Given the description of an element on the screen output the (x, y) to click on. 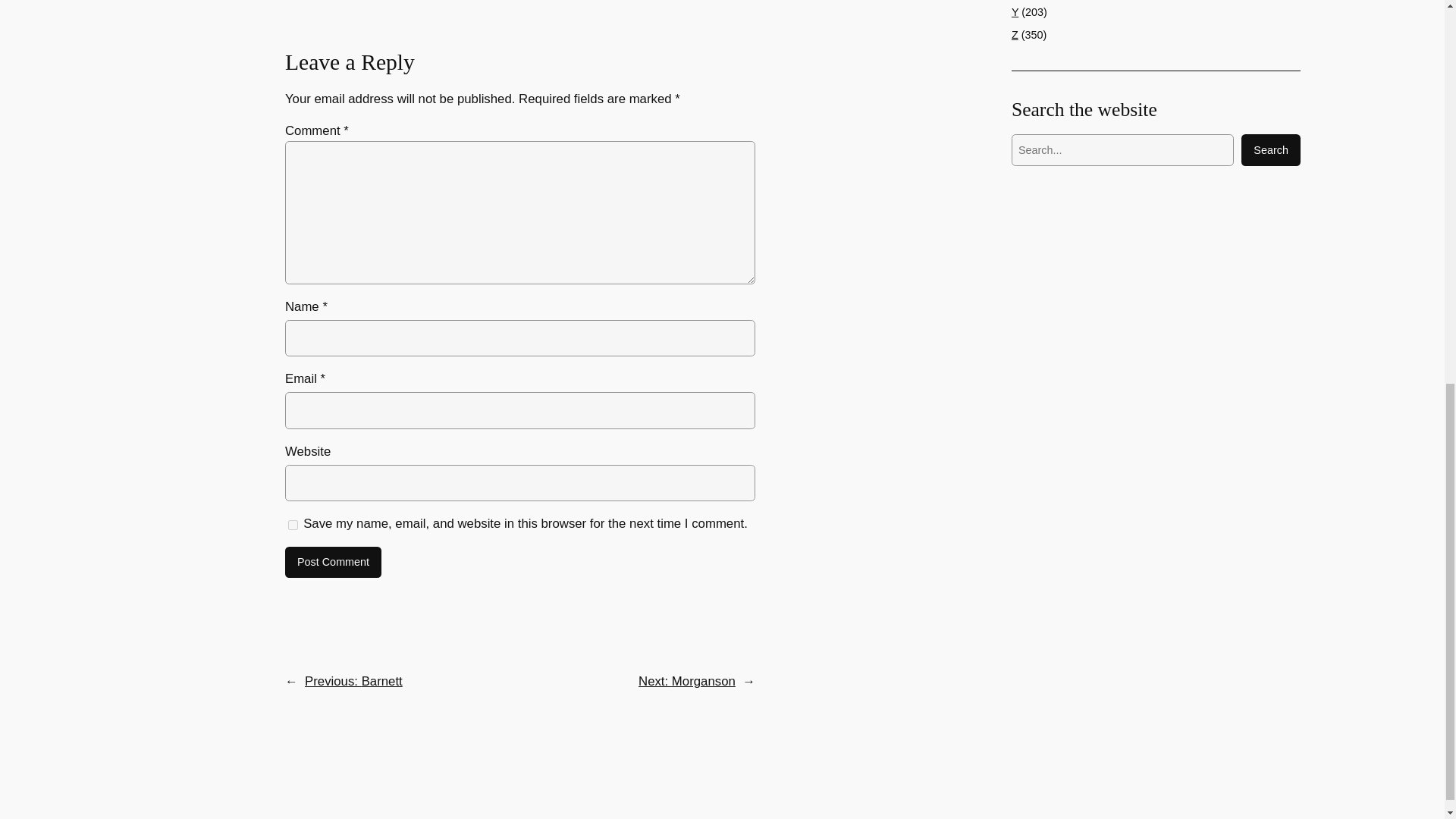
Post Comment (333, 562)
Post Comment (333, 562)
Previous: Barnett (353, 681)
yes (293, 524)
Next: Morganson (687, 681)
